Given the description of an element on the screen output the (x, y) to click on. 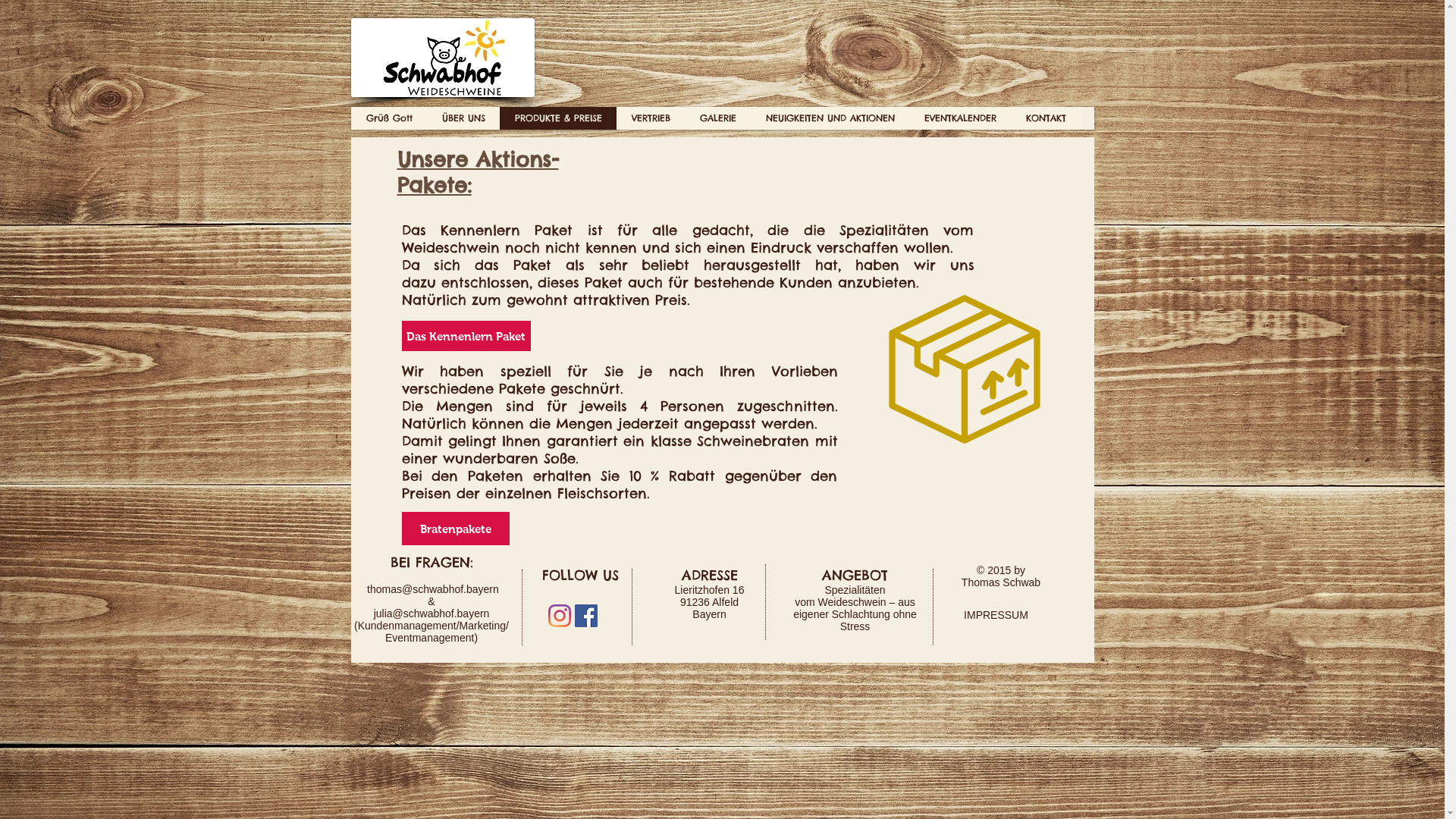
thomas@schwabhof.bayern Element type: text (432, 589)
PRODUKTE & PREISE Element type: text (556, 117)
NEUIGKEITEN UND AKTIONEN Element type: text (829, 117)
EVENTKALENDER Element type: text (959, 117)
julia@schwabhof.bayern Element type: text (431, 613)
VERTRIEB Element type: text (649, 117)
IMPRESSUM Element type: text (995, 615)
Bratenpakete Element type: text (455, 528)
GALERIE Element type: text (716, 117)
schwabhof_logo.jpg Element type: hover (441, 57)
KONTAKT Element type: text (1044, 117)
Das Kennenlern Paket Element type: text (465, 335)
